Given the description of an element on the screen output the (x, y) to click on. 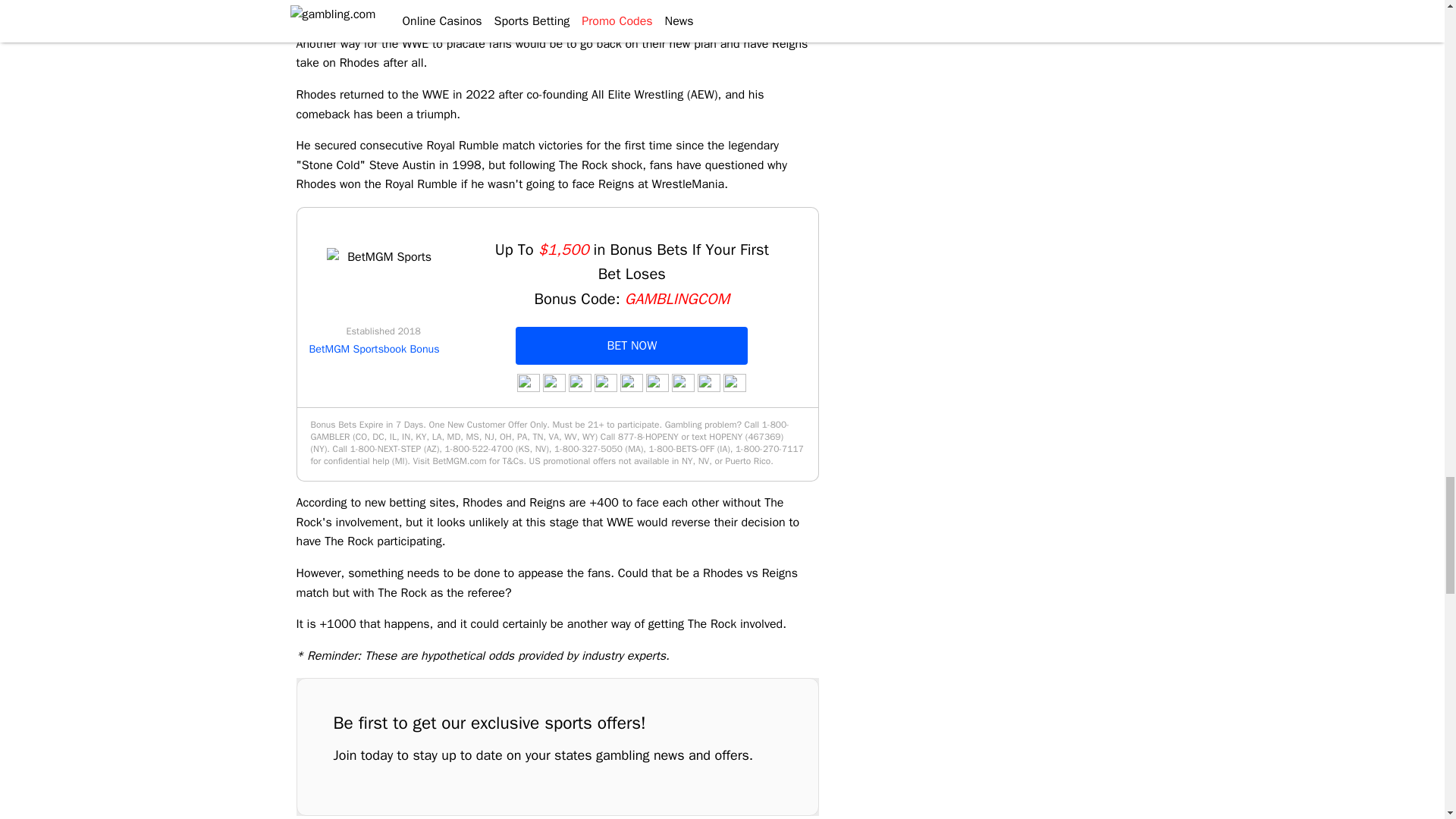
ACH Transfer (528, 382)
BetMGM Sports (383, 285)
Bank Transfer (554, 382)
PayPal (580, 382)
